Given the description of an element on the screen output the (x, y) to click on. 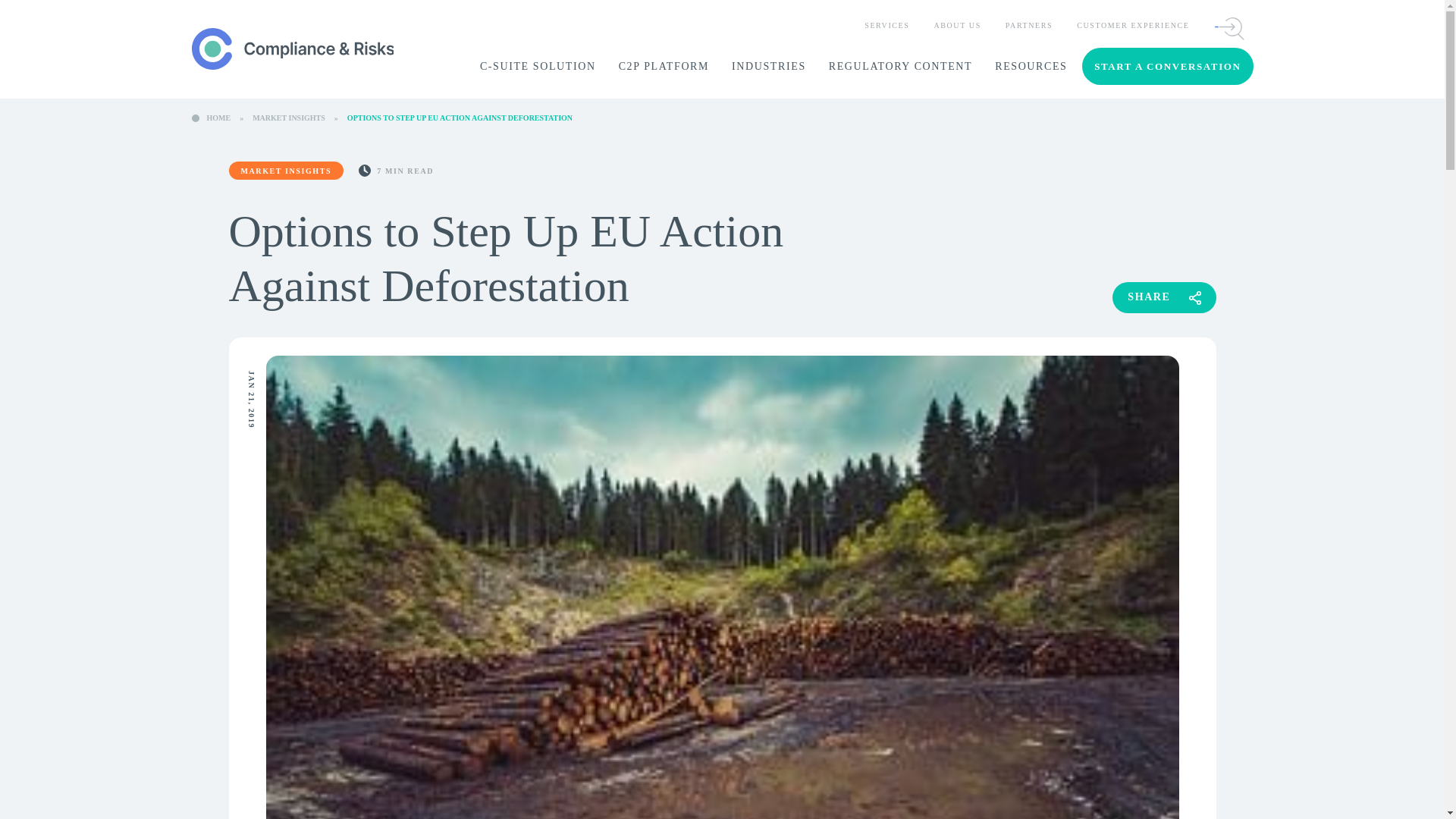
INDUSTRIES (769, 66)
REGULATORY CONTENT (900, 66)
C2P PLATFORM (663, 66)
C-SUITE SOLUTION (537, 66)
